Given the description of an element on the screen output the (x, y) to click on. 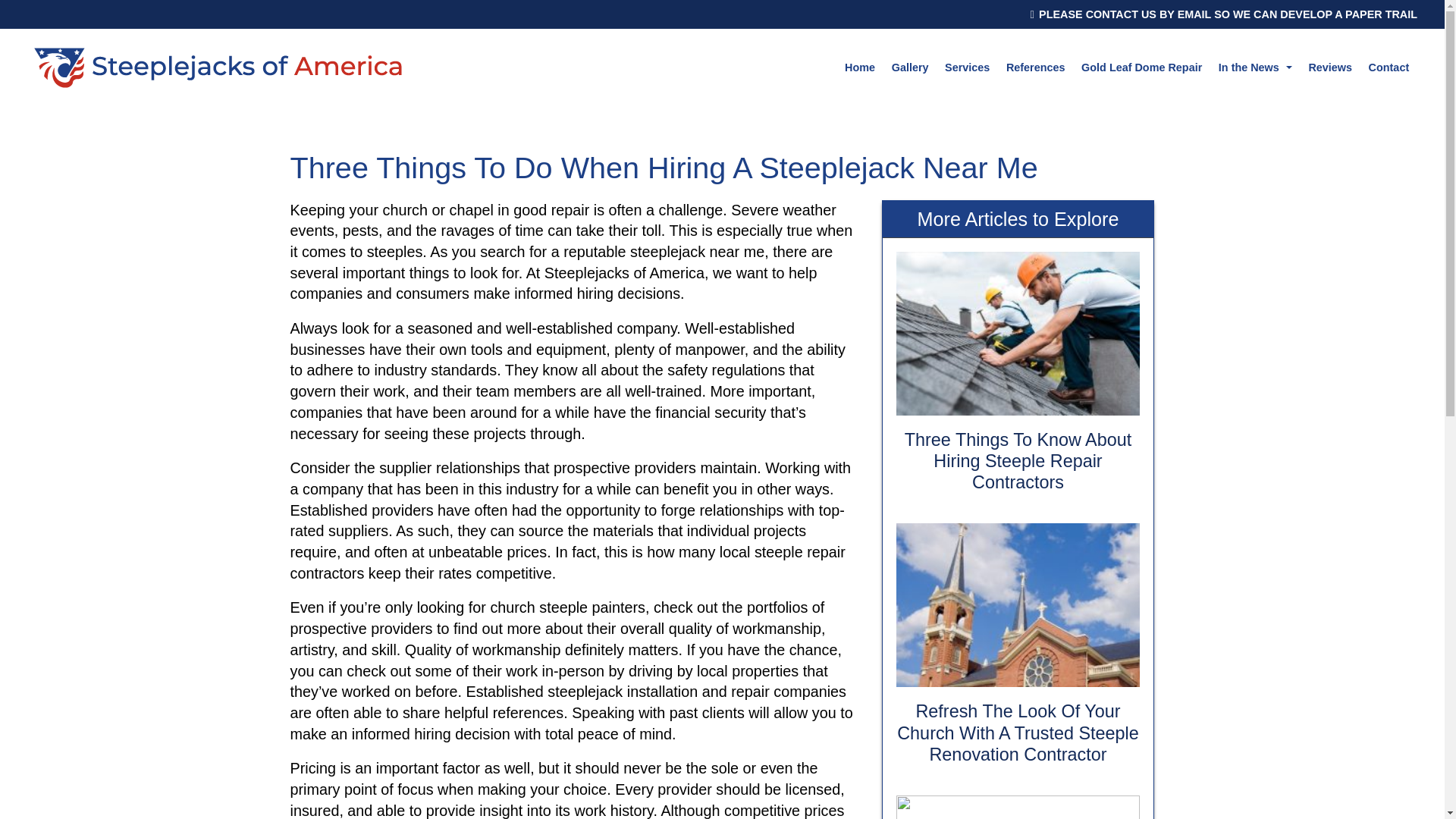
Contact (1387, 67)
Reviews (1329, 67)
Gallery (909, 67)
In the News (1254, 67)
Three Things To Know About Hiring Steeple Repair Contractors (1018, 374)
Gold Leaf Dome Repair (1141, 67)
Reviews (1329, 67)
Home (859, 67)
Schedule Steeple Repair Services You Can Trust (1018, 800)
